Given the description of an element on the screen output the (x, y) to click on. 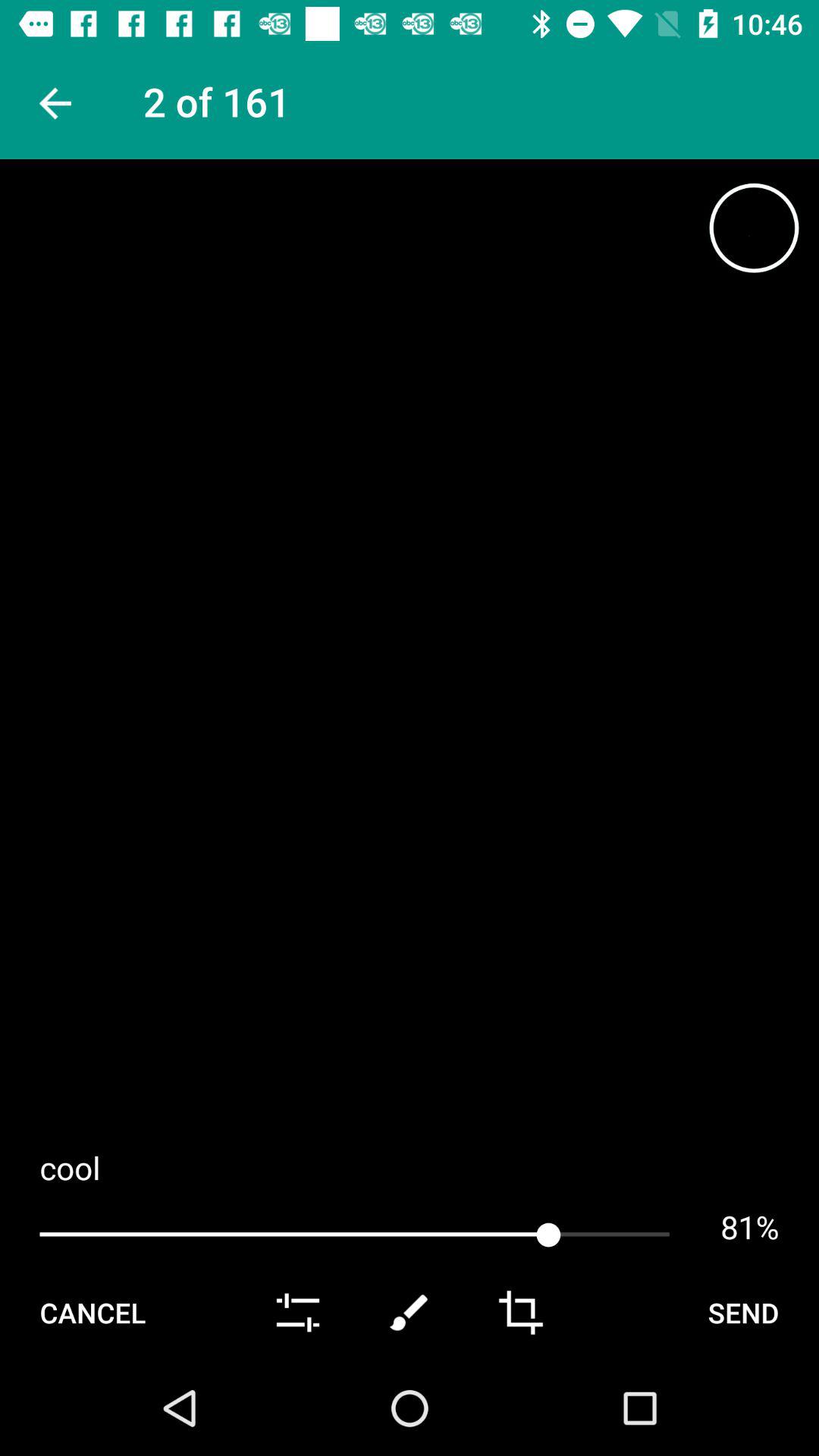
go back (53, 103)
